Given the description of an element on the screen output the (x, y) to click on. 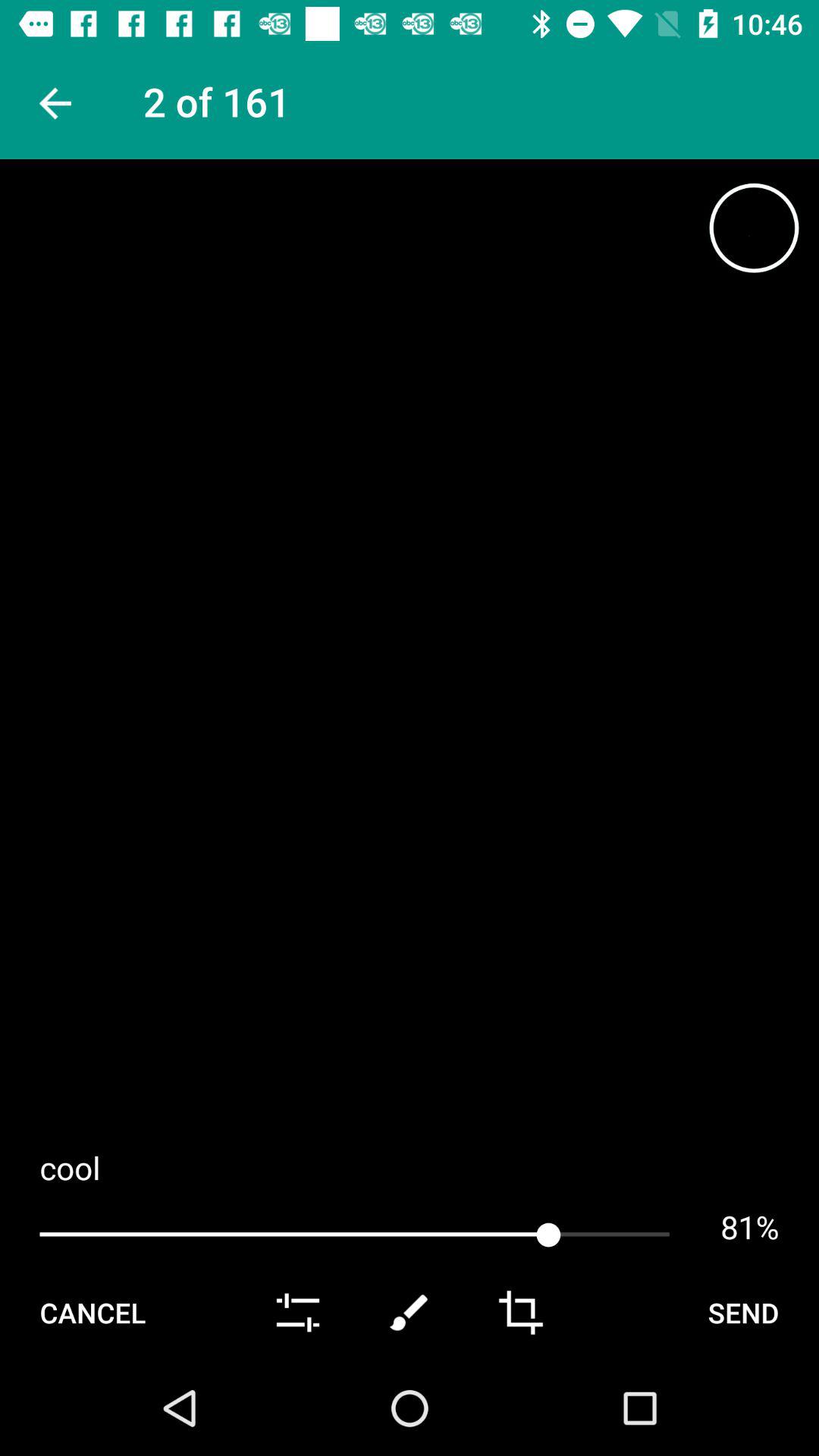
go back (53, 103)
